Given the description of an element on the screen output the (x, y) to click on. 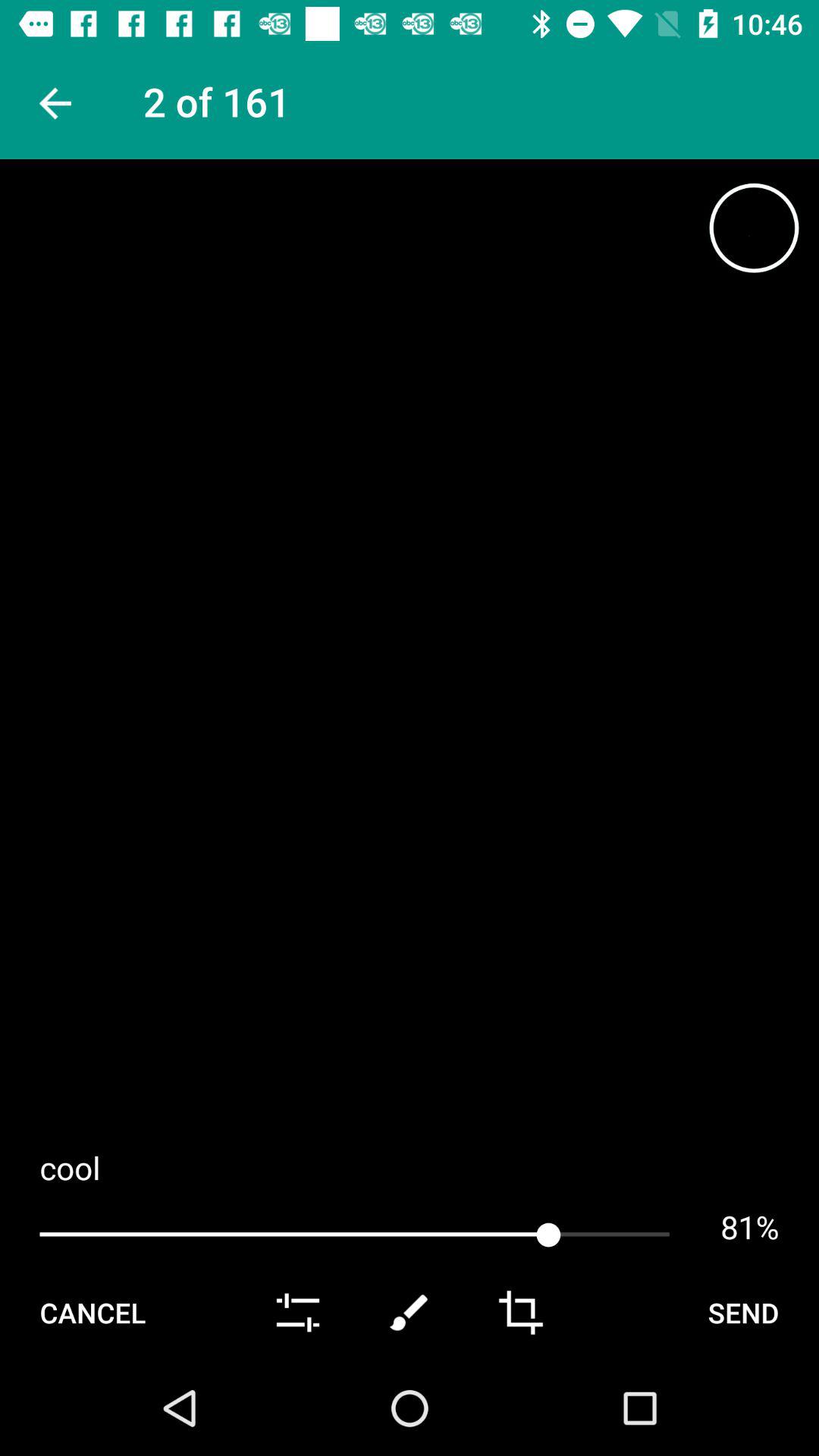
go back (53, 103)
